Given the description of an element on the screen output the (x, y) to click on. 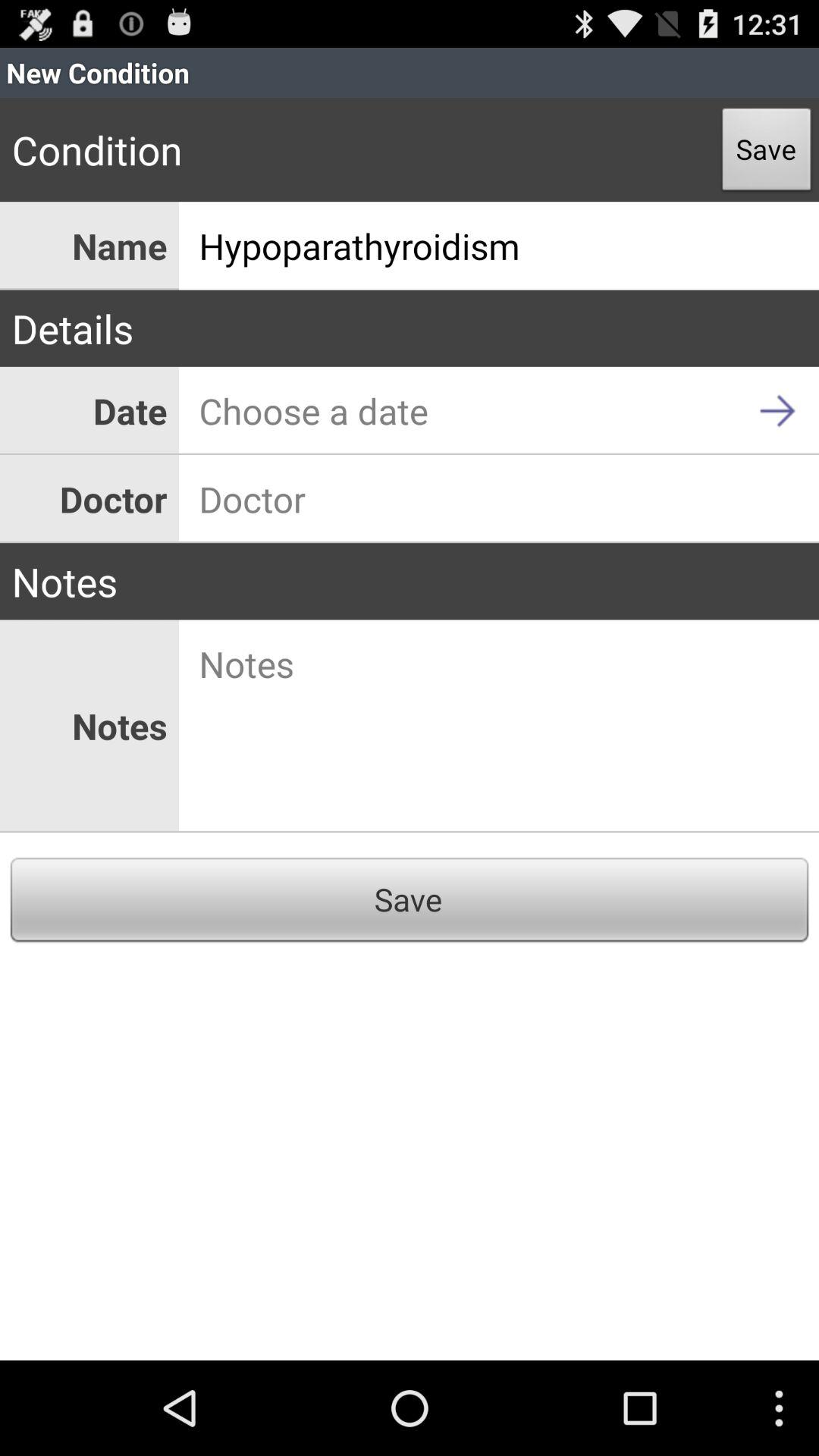
fill this field (499, 499)
